Given the description of an element on the screen output the (x, y) to click on. 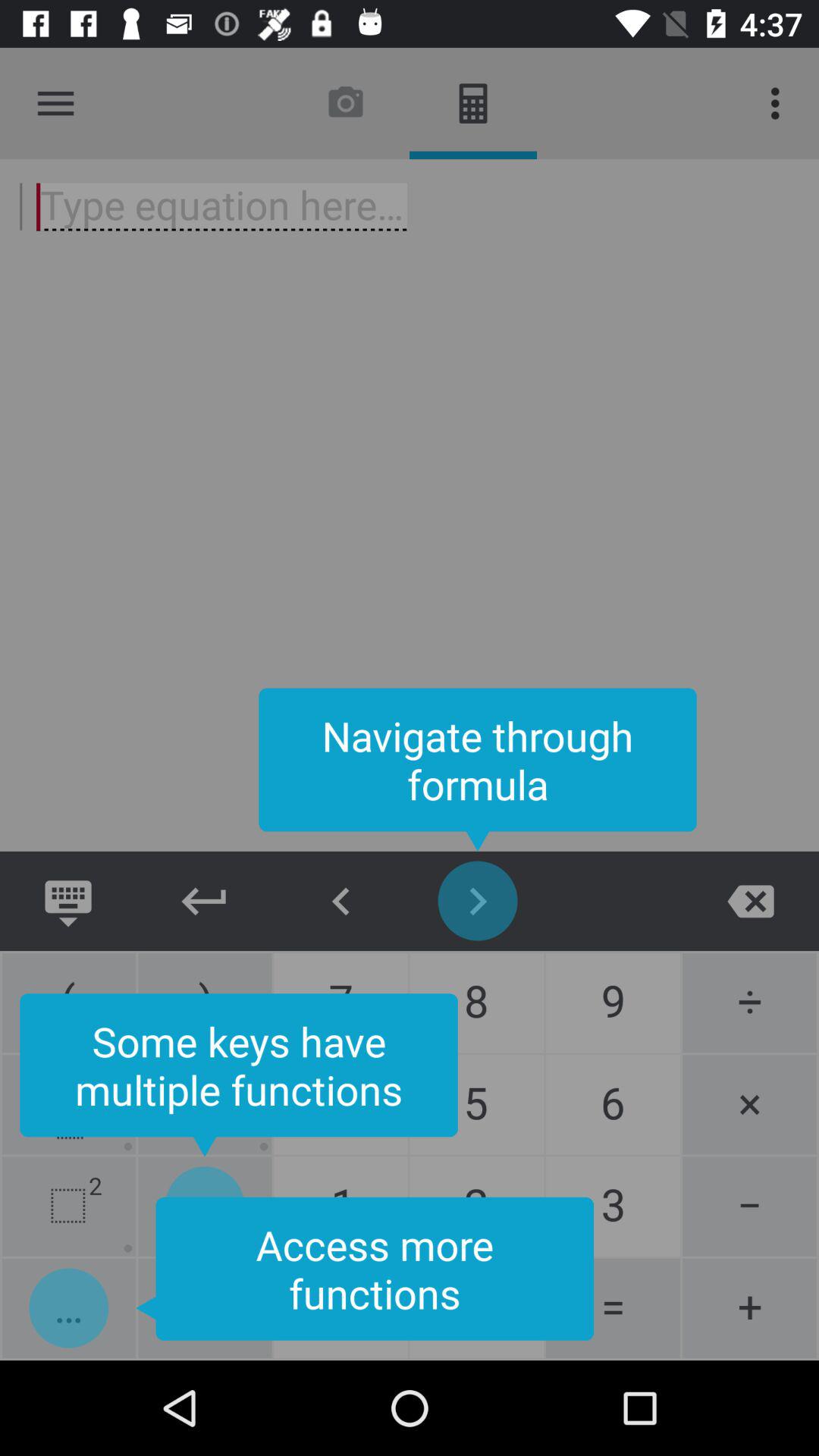
turn on icon below the navigate through formula item (204, 900)
